Given the description of an element on the screen output the (x, y) to click on. 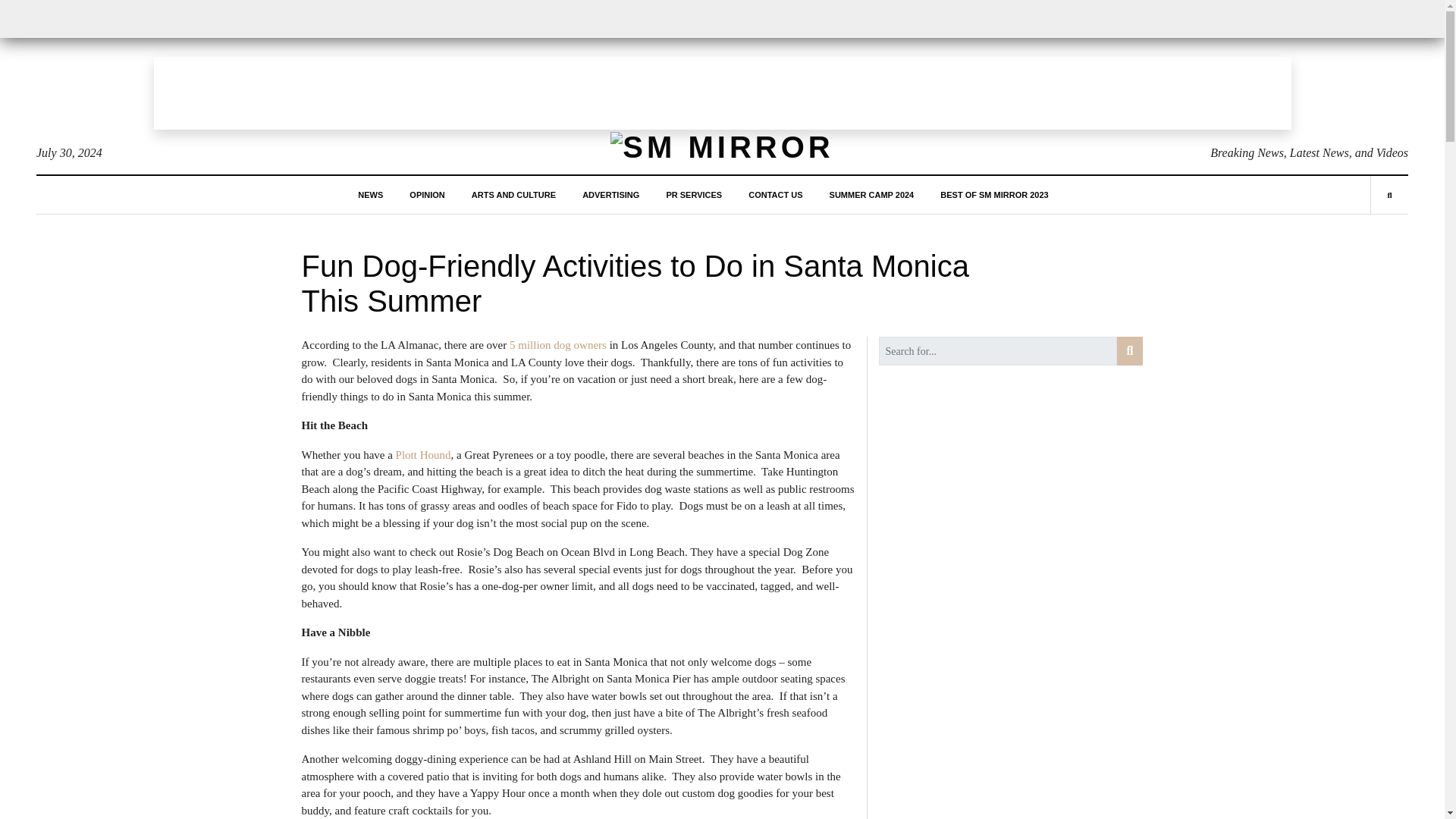
CONTACT US (775, 194)
BEST OF SM MIRROR 2023 (994, 194)
SUMMER CAMP 2024 (871, 194)
5 million dog owners (558, 345)
ADVERTISING (610, 194)
Plott Hound (422, 454)
OPINION (426, 194)
PR SERVICES (693, 194)
ARTS AND CULTURE (513, 194)
